Given the description of an element on the screen output the (x, y) to click on. 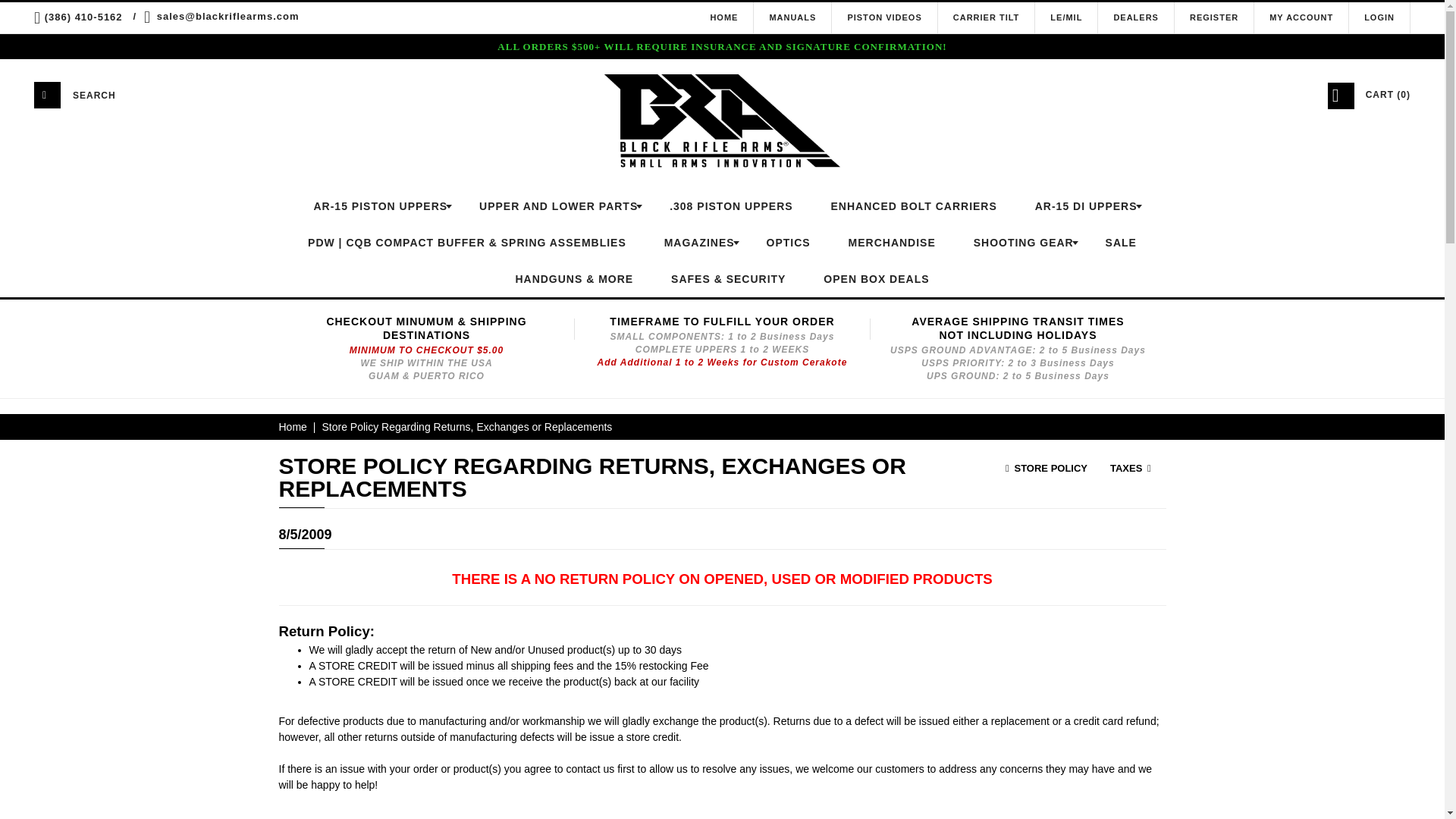
AR-15 PISTON UPPERS (376, 206)
DEALERS (1135, 17)
CARRIER TILT (986, 17)
HOME (724, 17)
MAGAZINES (695, 242)
MY ACCOUNT (1301, 17)
MANUALS (791, 17)
REGISTER (1214, 17)
PISTON VIDEOS (884, 17)
AR-15 DI UPPERS (1082, 206)
